Given the description of an element on the screen output the (x, y) to click on. 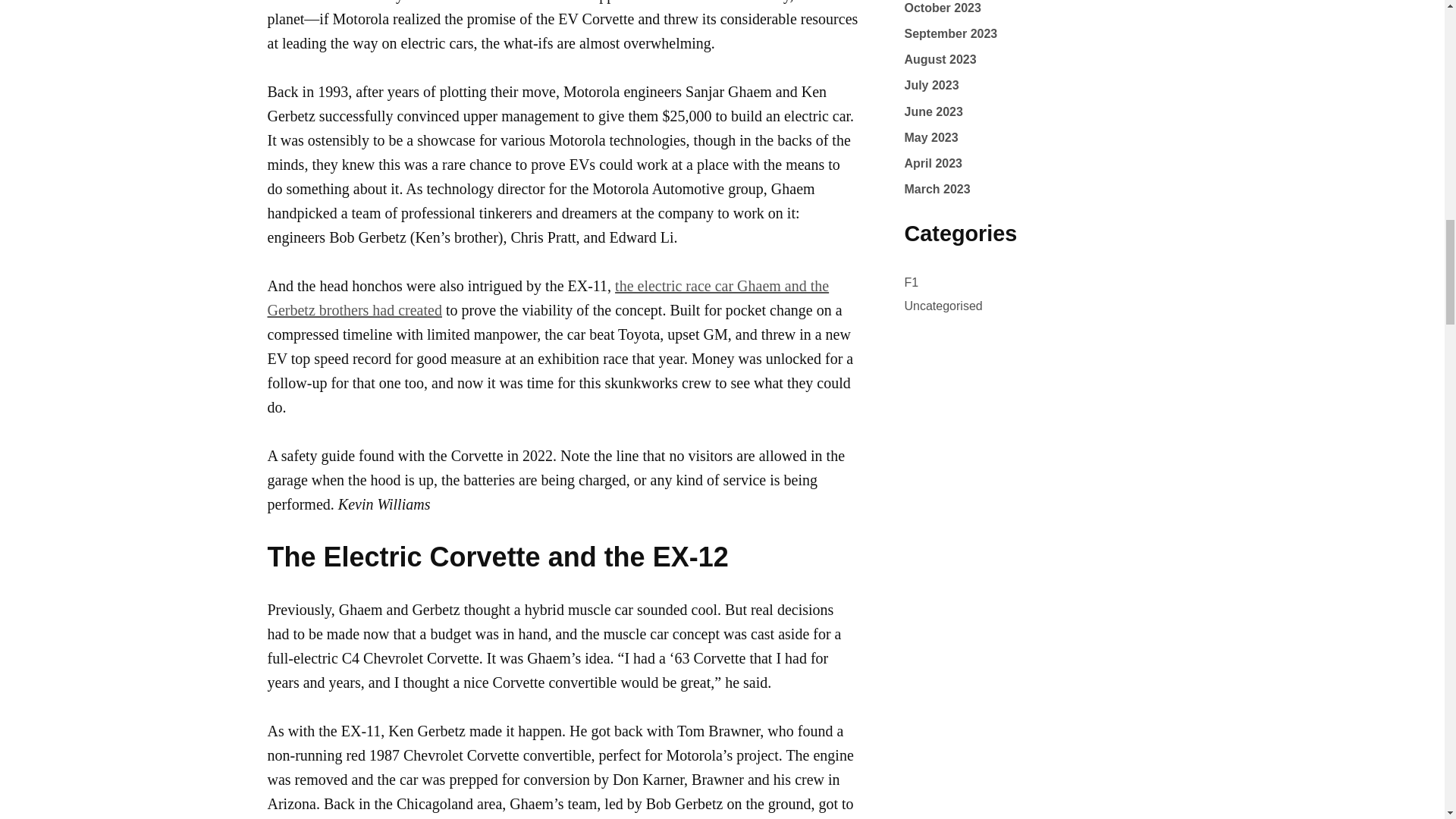
August 2023 (939, 59)
Uncategorised (942, 305)
March 2023 (936, 188)
April 2023 (932, 163)
July 2023 (931, 84)
June 2023 (933, 111)
September 2023 (950, 33)
May 2023 (931, 137)
October 2023 (941, 7)
